Given the description of an element on the screen output the (x, y) to click on. 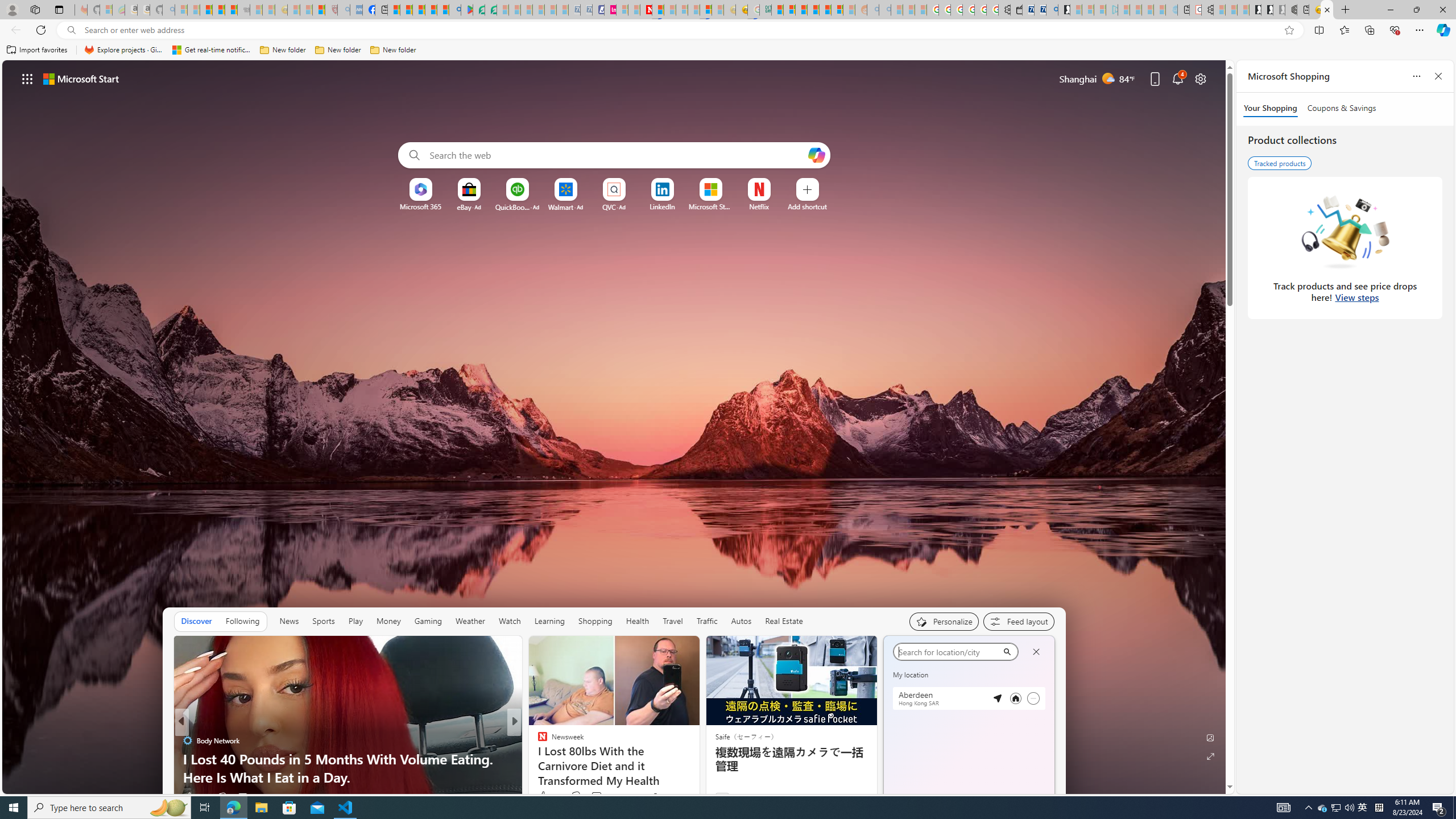
New Report Confirms 2023 Was Record Hot | Watch (230, 9)
Mostly sunny (904, 678)
Autos (740, 621)
Tastes Delicious (537, 740)
Expand background (1210, 756)
Netflix (758, 206)
View comments 73 Comment (601, 795)
Set as your primary location (1015, 698)
